Given the description of an element on the screen output the (x, y) to click on. 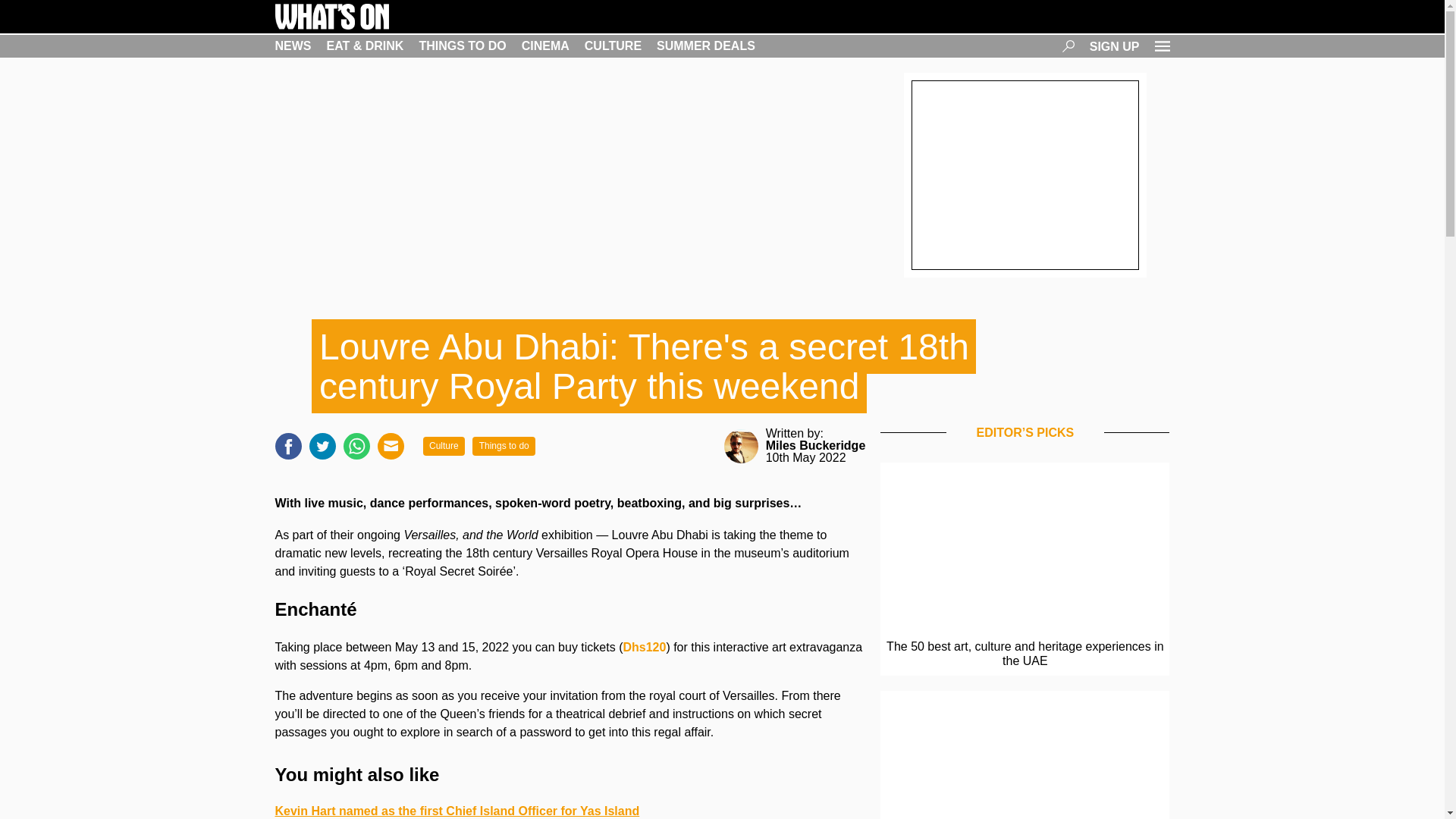
NEWS (293, 45)
THINGS TO DO (462, 45)
CULTURE (613, 45)
CINEMA (545, 45)
SUMMER DEALS (705, 45)
SIGN UP (1114, 45)
